Given the description of an element on the screen output the (x, y) to click on. 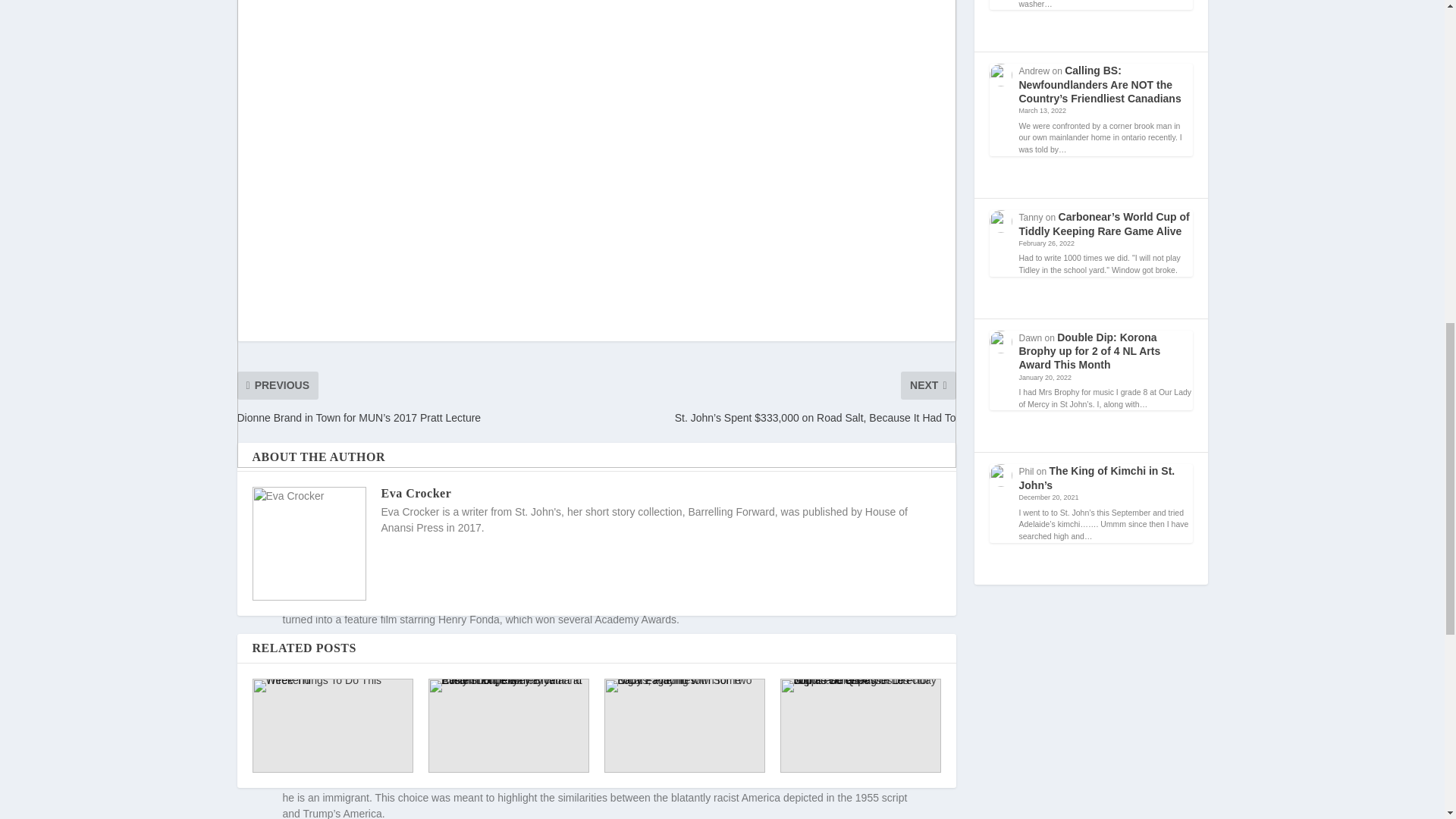
Eva Crocker (415, 492)
